Given the description of an element on the screen output the (x, y) to click on. 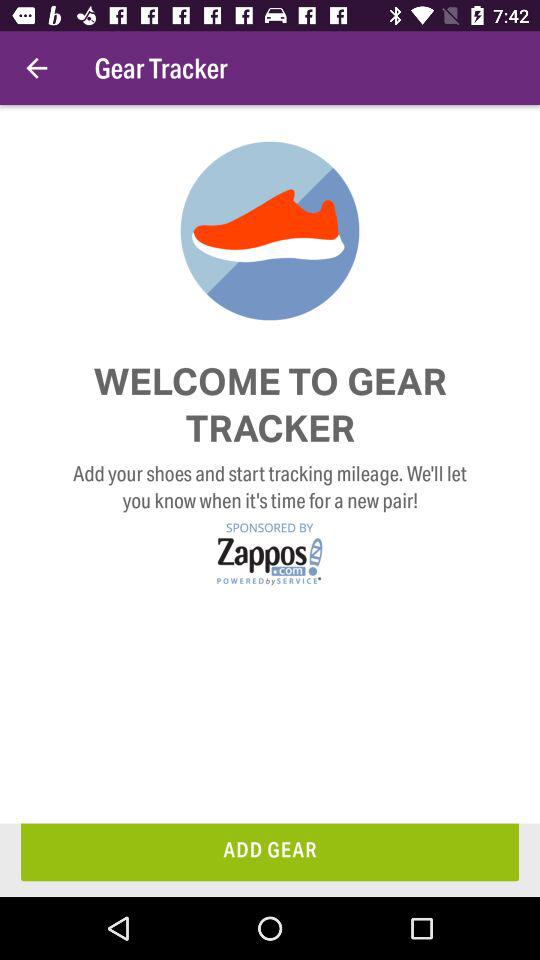
launch add gear icon (270, 852)
